Given the description of an element on the screen output the (x, y) to click on. 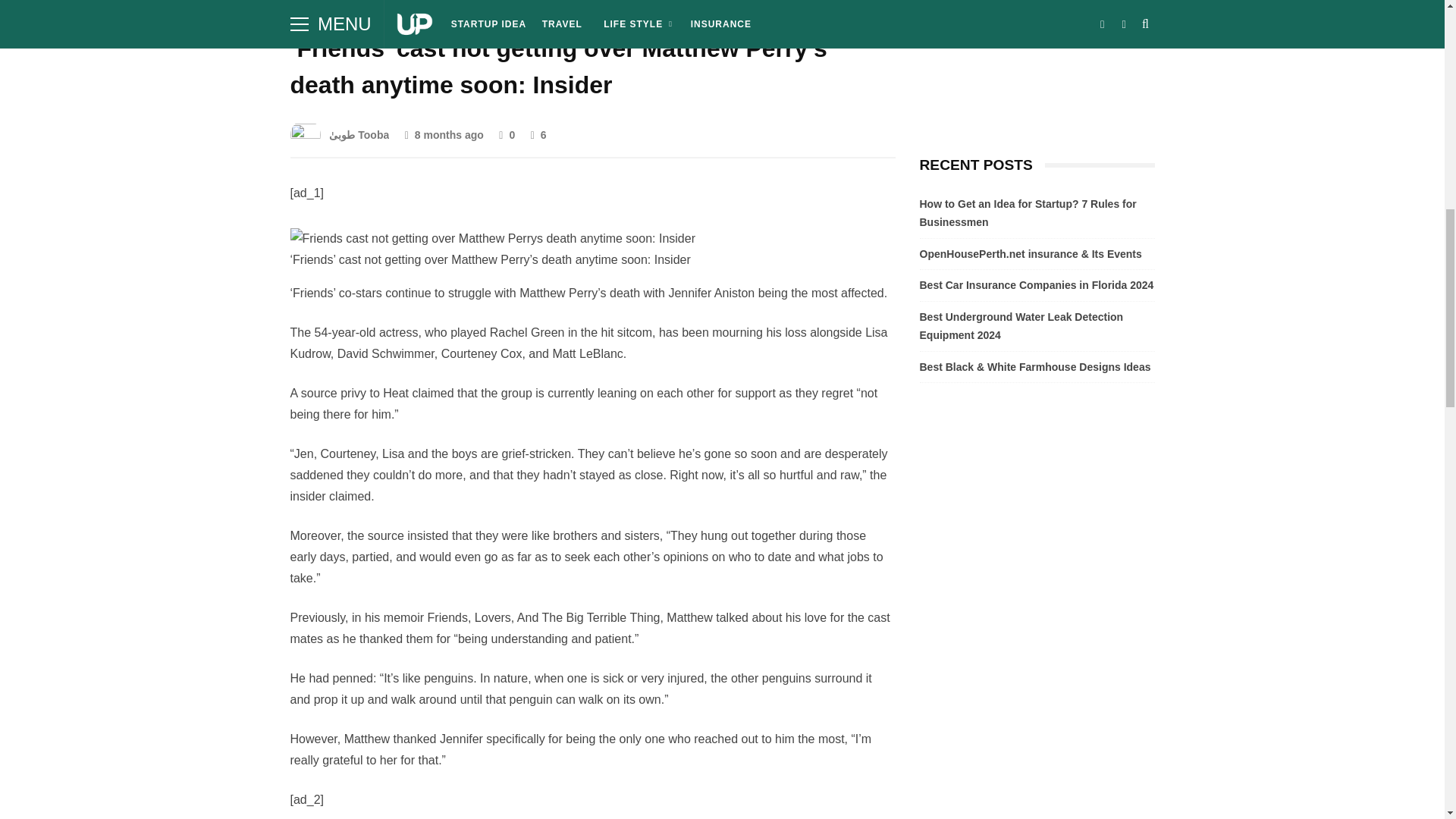
Scroll To Top (1422, 20)
STARTUP (321, 6)
0 (507, 134)
